Given the description of an element on the screen output the (x, y) to click on. 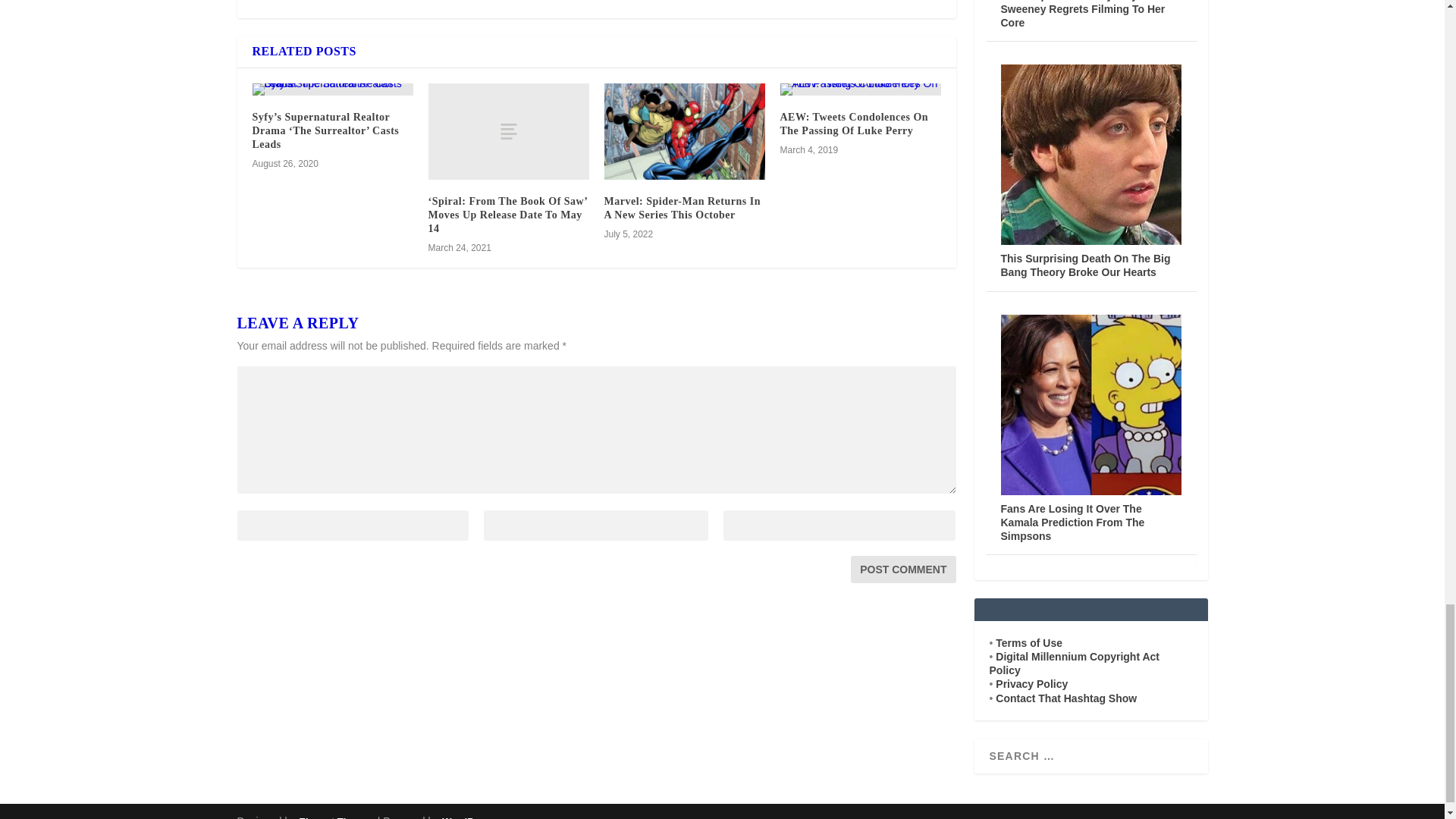
Post Comment (902, 569)
